Given the description of an element on the screen output the (x, y) to click on. 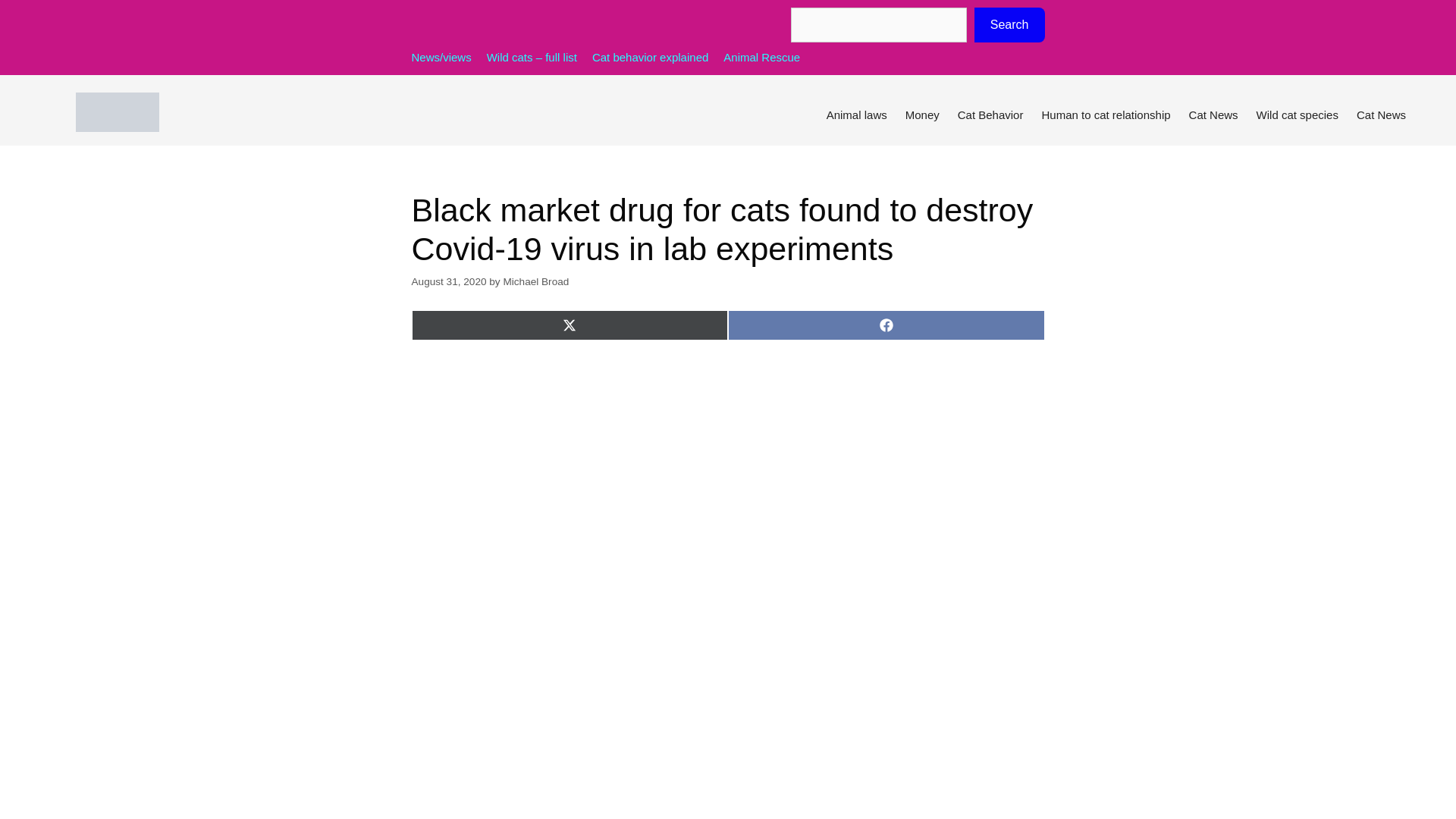
Michael Broad (535, 281)
Cat News (1381, 115)
Cat behavior explained (649, 56)
Search (1009, 24)
Animal laws (856, 115)
Wild cat species (1297, 115)
Cat News (1213, 115)
Animal Rescue (761, 56)
View all posts by Michael Broad (535, 281)
Money (922, 115)
